Given the description of an element on the screen output the (x, y) to click on. 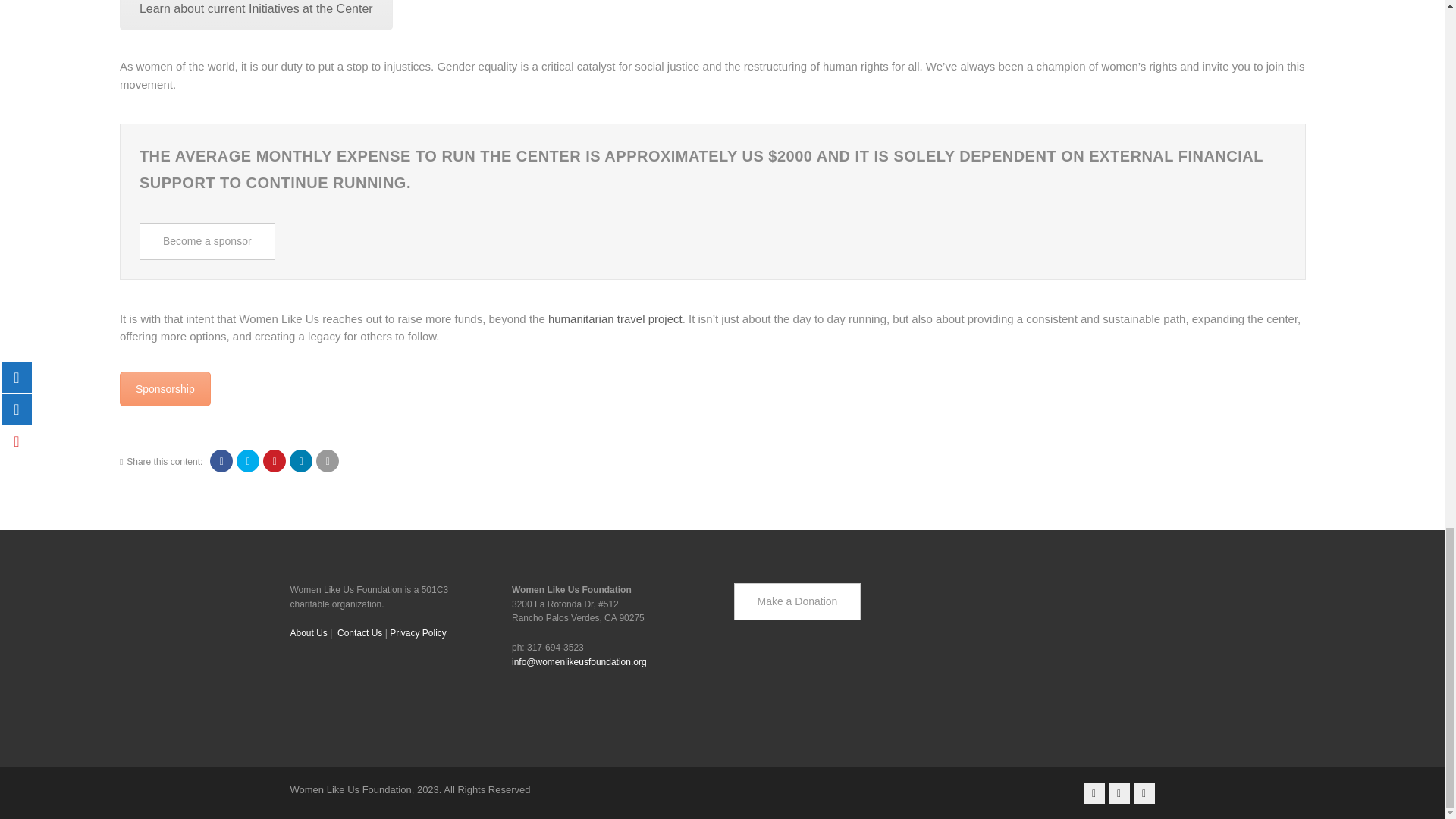
Share on Facebook (220, 460)
Tweet (247, 460)
Become a sponsor (207, 241)
Share on Linkedin (301, 460)
Initiatives (256, 15)
Make a Donation (165, 388)
Pin it (274, 460)
Learn about current Initiatives at the Center (256, 15)
Email (327, 460)
